Given the description of an element on the screen output the (x, y) to click on. 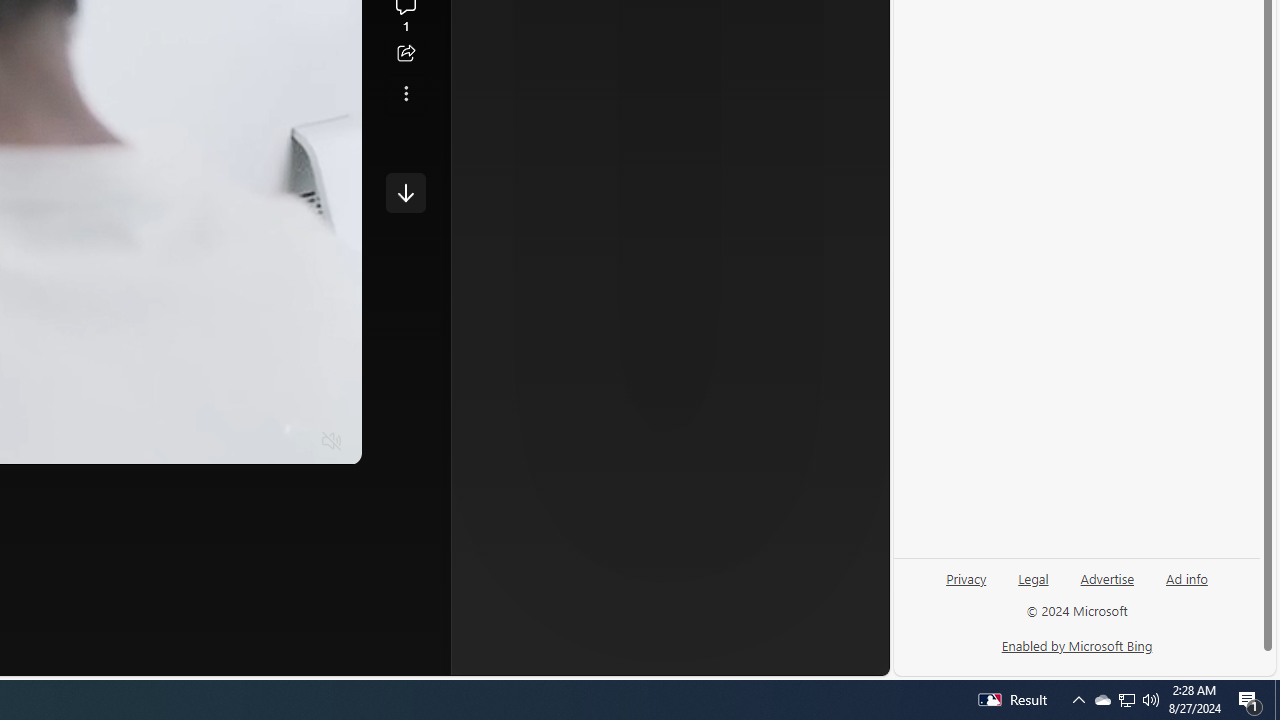
Captions (253, 442)
ABC News (584, 12)
Unmute (332, 442)
